Given the description of an element on the screen output the (x, y) to click on. 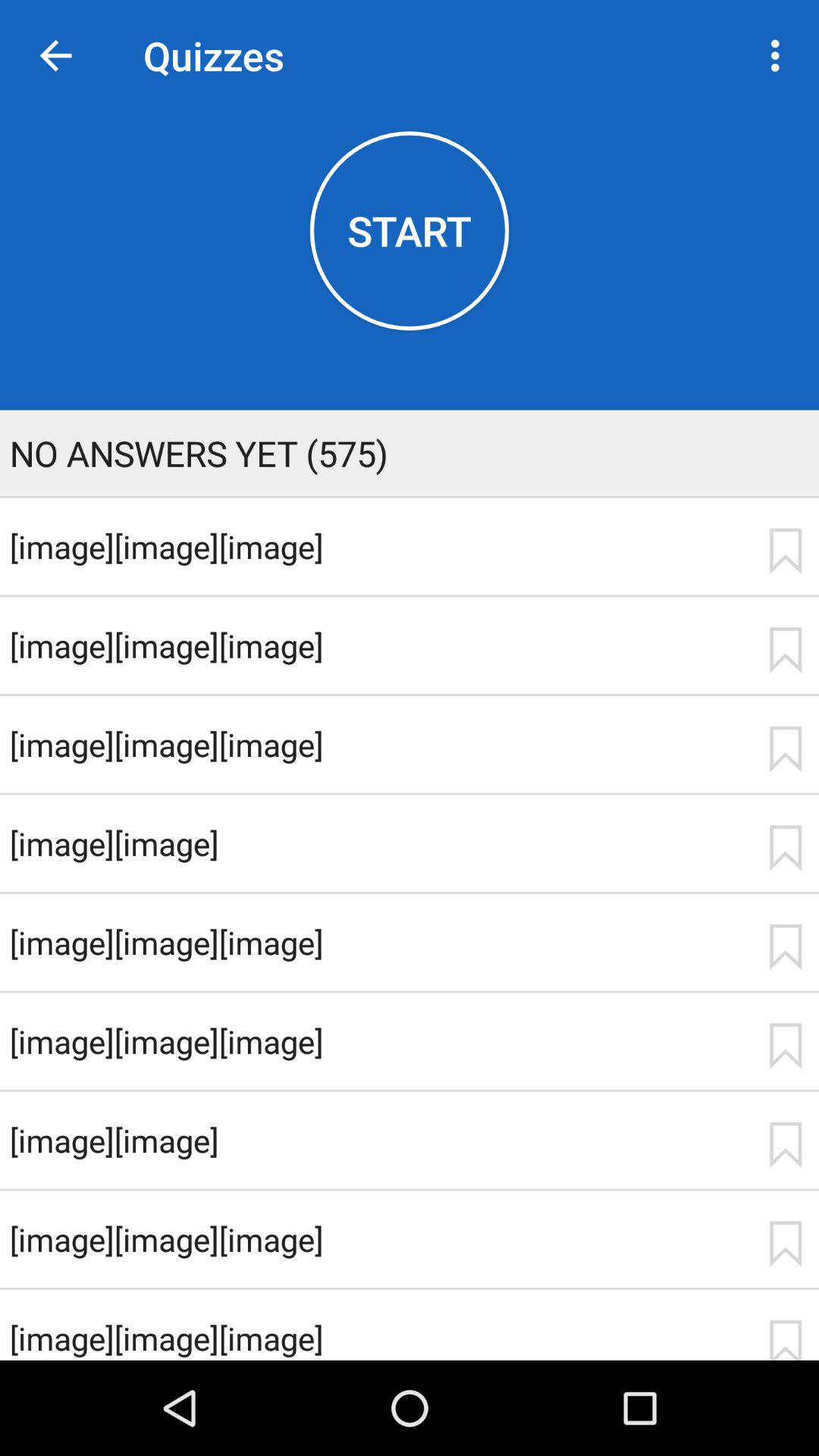
tap app to the right of [image][image][image] icon (784, 749)
